Given the description of an element on the screen output the (x, y) to click on. 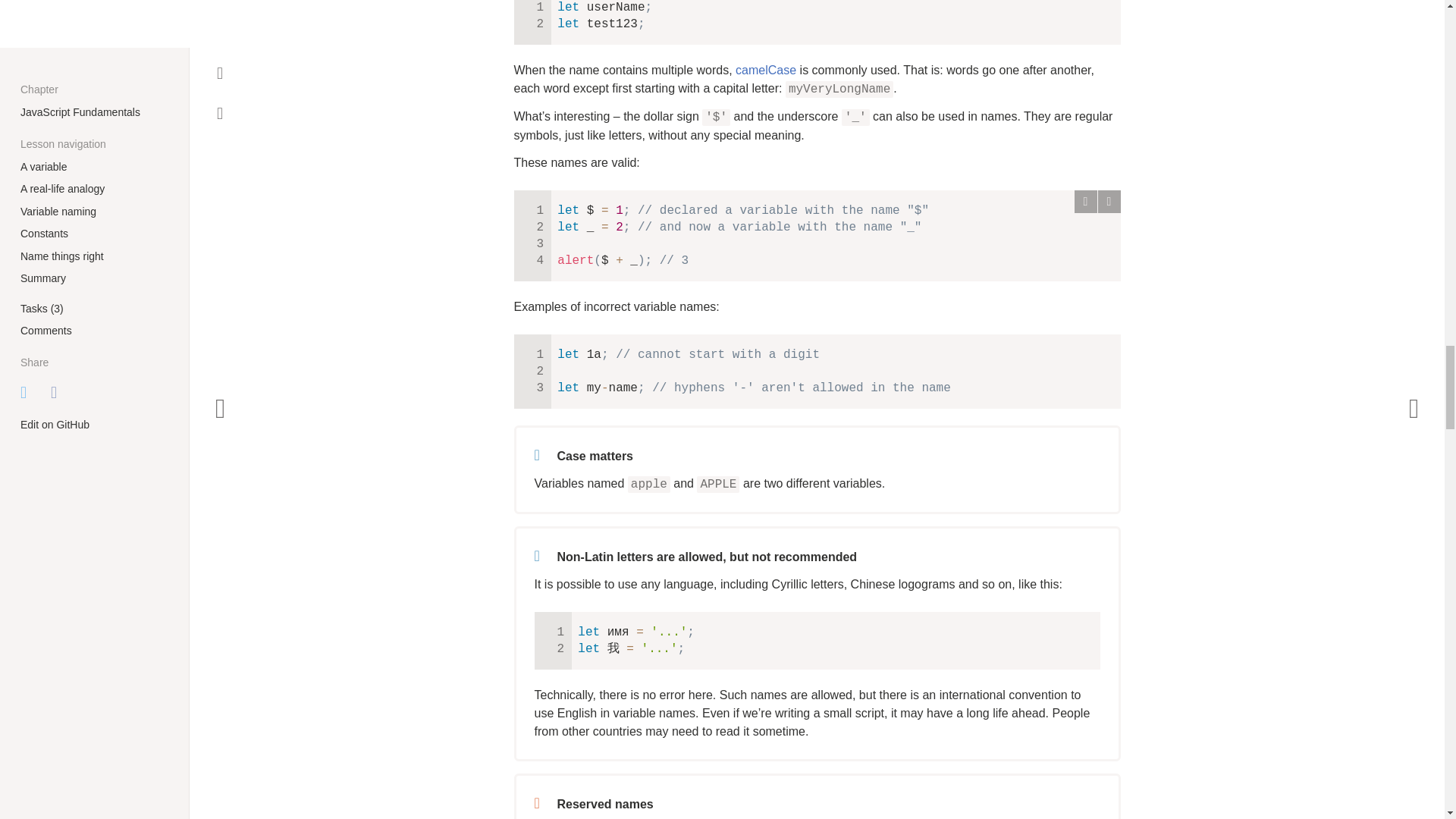
open in sandbox (1109, 201)
run (1085, 201)
